Given the description of an element on the screen output the (x, y) to click on. 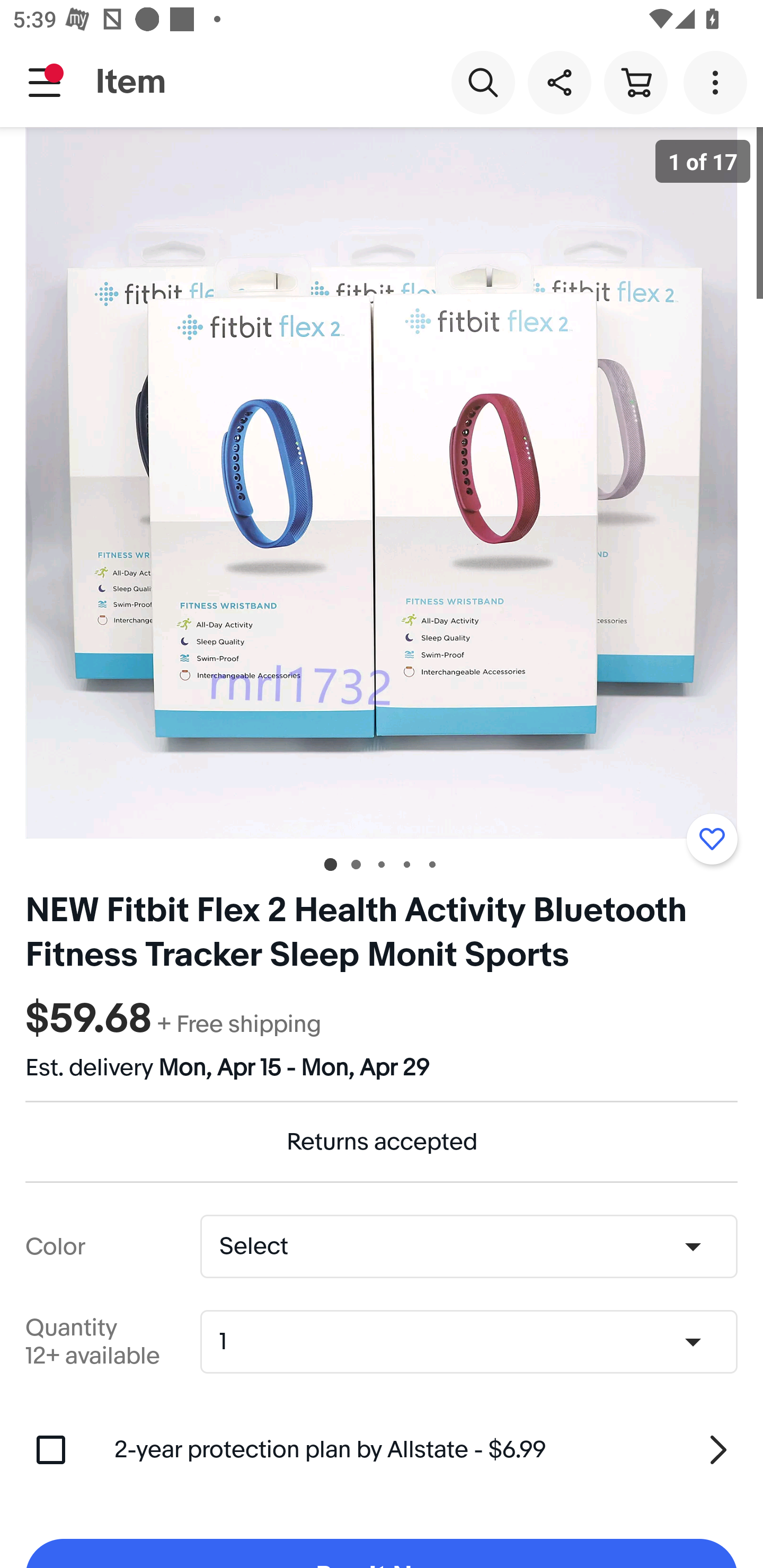
Main navigation, notification is pending, open (44, 82)
Search (482, 81)
Share this item (559, 81)
Cart button shopping cart (635, 81)
More options (718, 81)
Item image 1 of 17 (381, 482)
Add to watchlist (711, 838)
Color,No selection Select (468, 1246)
Quantity,1,12+ available 1 (474, 1342)
2-year protection plan by Allstate - $6.99 (425, 1449)
